Given the description of an element on the screen output the (x, y) to click on. 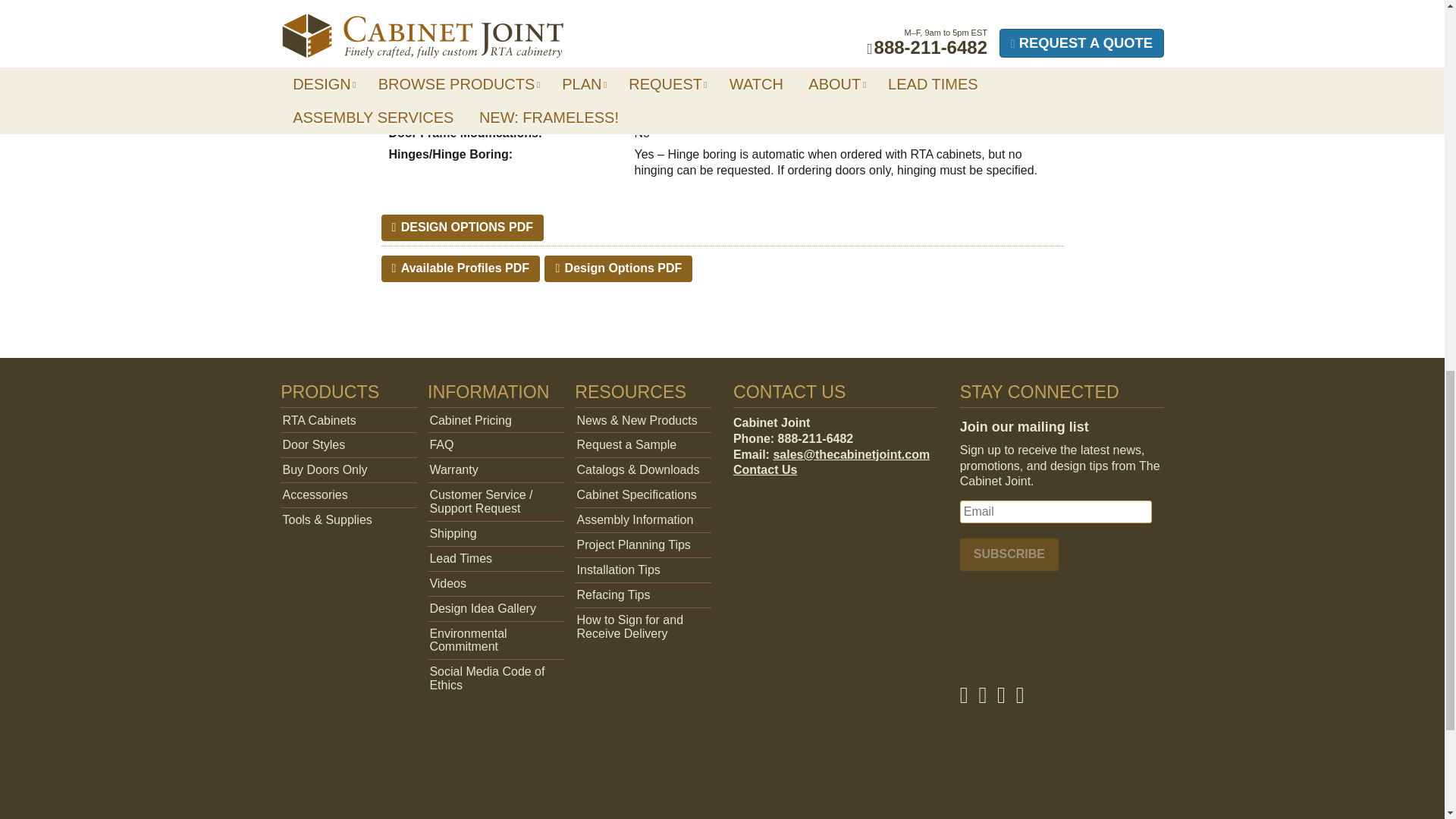
Subscribe (1008, 554)
